Given the description of an element on the screen output the (x, y) to click on. 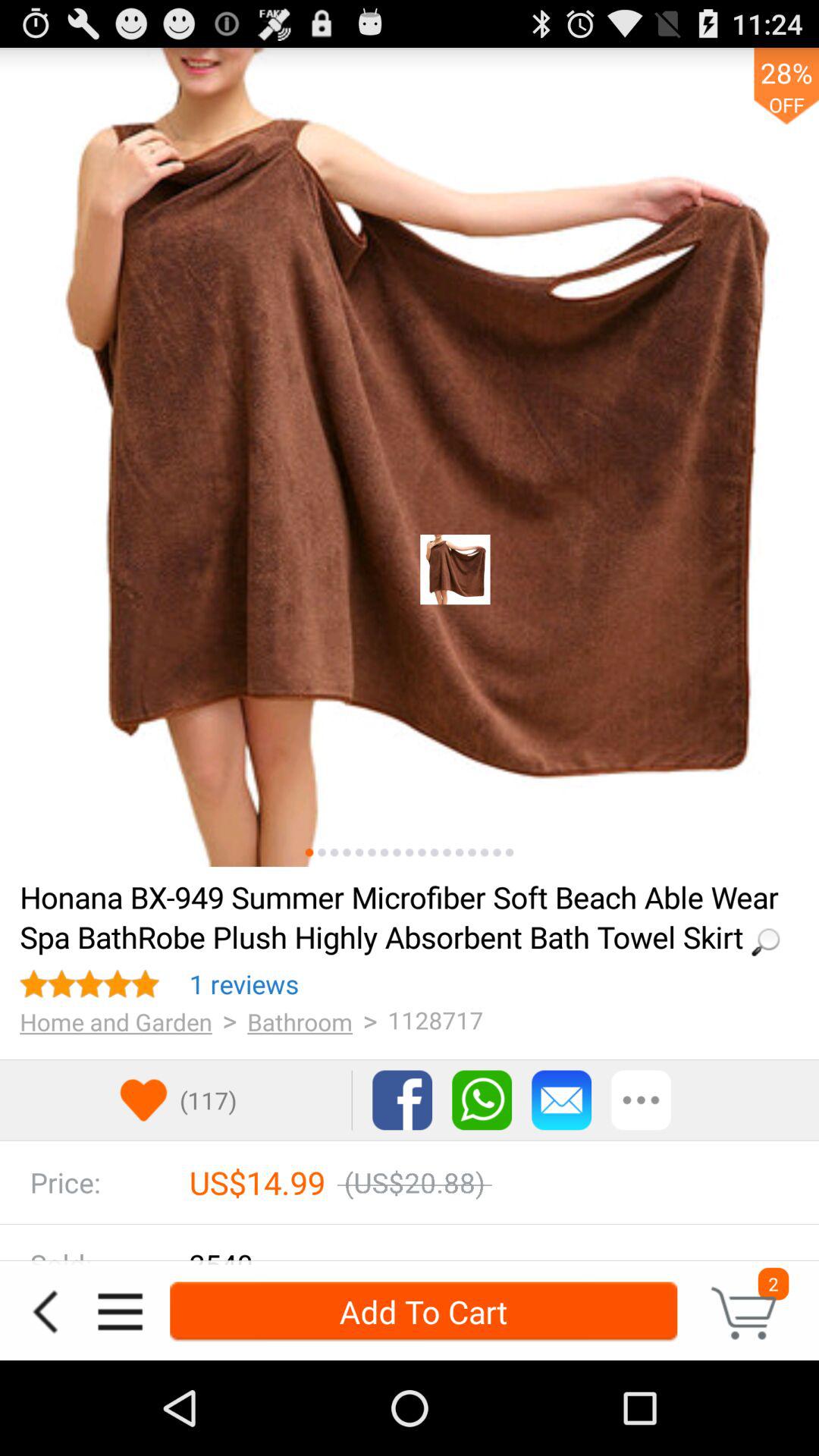
launch the icon next to > icon (299, 1021)
